Given the description of an element on the screen output the (x, y) to click on. 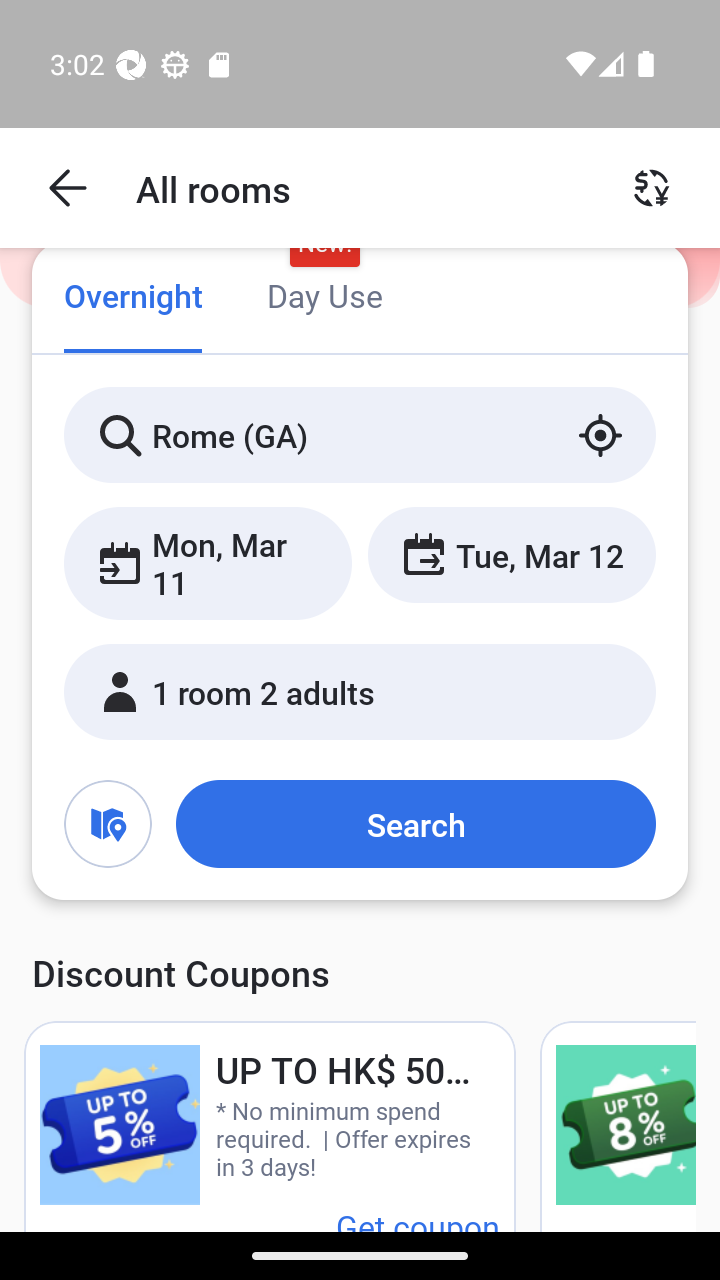
Day Use (324, 298)
Rome (GA) (359, 434)
Mon, Mar 11 (208, 562)
Tue, Mar 12 (511, 554)
1 room 2 adults (359, 691)
Search (415, 823)
